Given the description of an element on the screen output the (x, y) to click on. 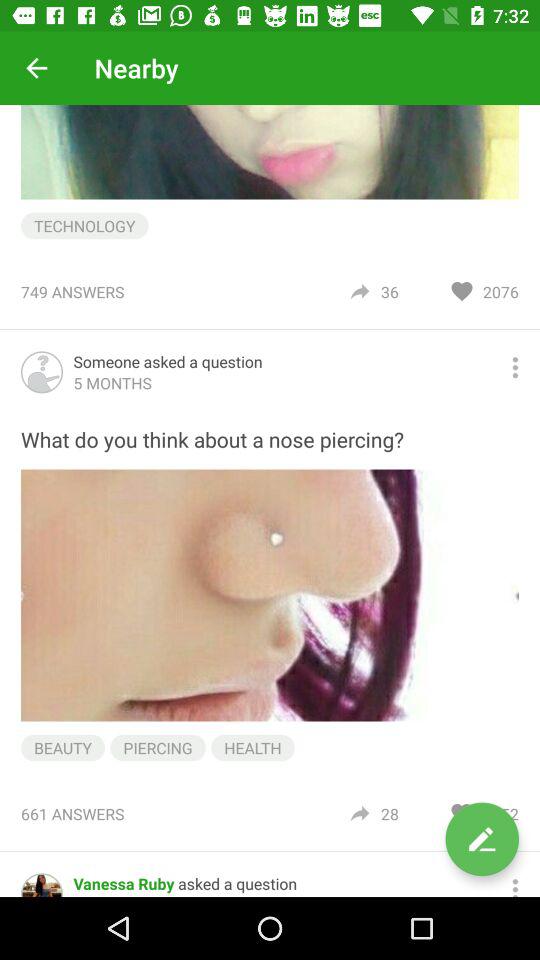
tap the icon to the right of the 28 item (482, 839)
